Given the description of an element on the screen output the (x, y) to click on. 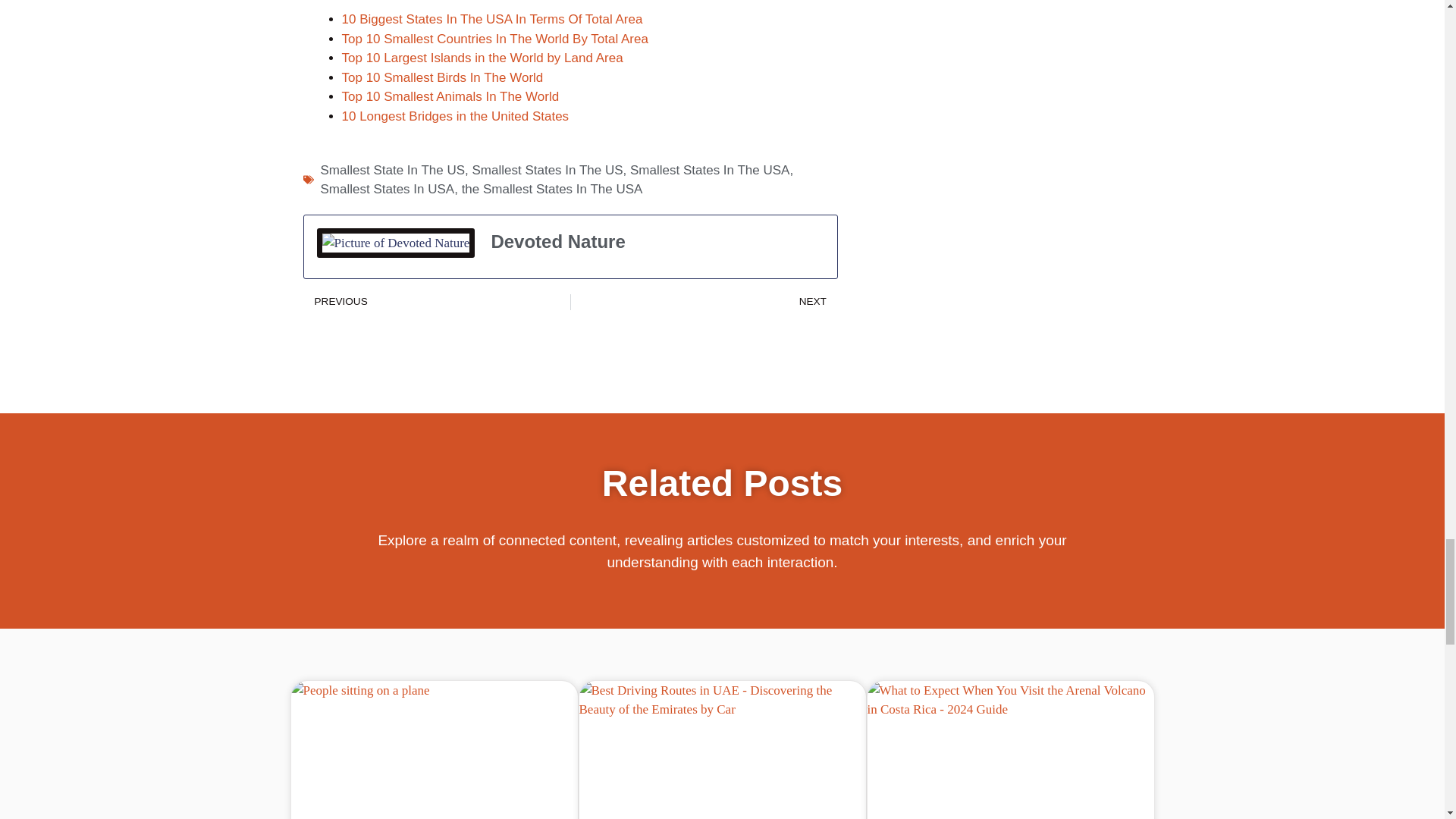
10 Biggest States In The USA In Terms Of Total Area (491, 19)
Smallest States In USA (387, 188)
PREVIOUS (436, 301)
NEXT (704, 301)
Top 10 Largest Islands in the World by Land Area (481, 57)
Top 10 Smallest Birds In The World (441, 77)
10 Longest Bridges in the United States (454, 115)
Smallest States In The USA (709, 169)
Top 10 Smallest Countries In The World By Total Area (493, 38)
Top 10 Smallest Animals In The World (449, 96)
Smallest State In The US (392, 169)
Smallest States In The US (547, 169)
the Smallest States In The USA (552, 188)
